Given the description of an element on the screen output the (x, y) to click on. 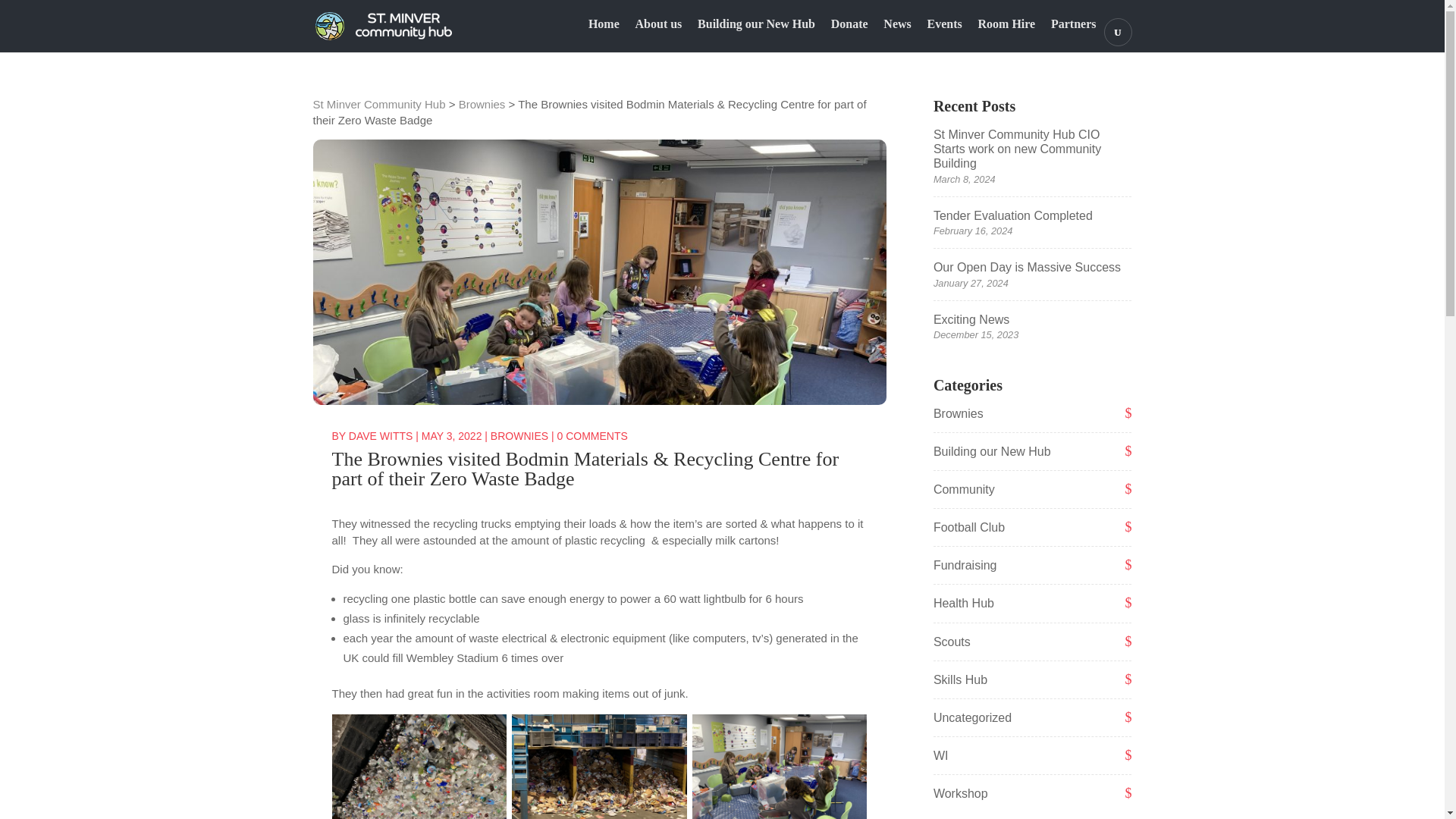
Go to the Brownies Category archives. (481, 103)
Tender Evaluation Completed (1013, 215)
DAVE WITTS (381, 435)
Building our New Hub (992, 451)
Health Hub (963, 603)
WI (941, 755)
Home (604, 35)
St Minver Community Hub (379, 103)
Fundraising (965, 564)
Football Club (968, 526)
